Given the description of an element on the screen output the (x, y) to click on. 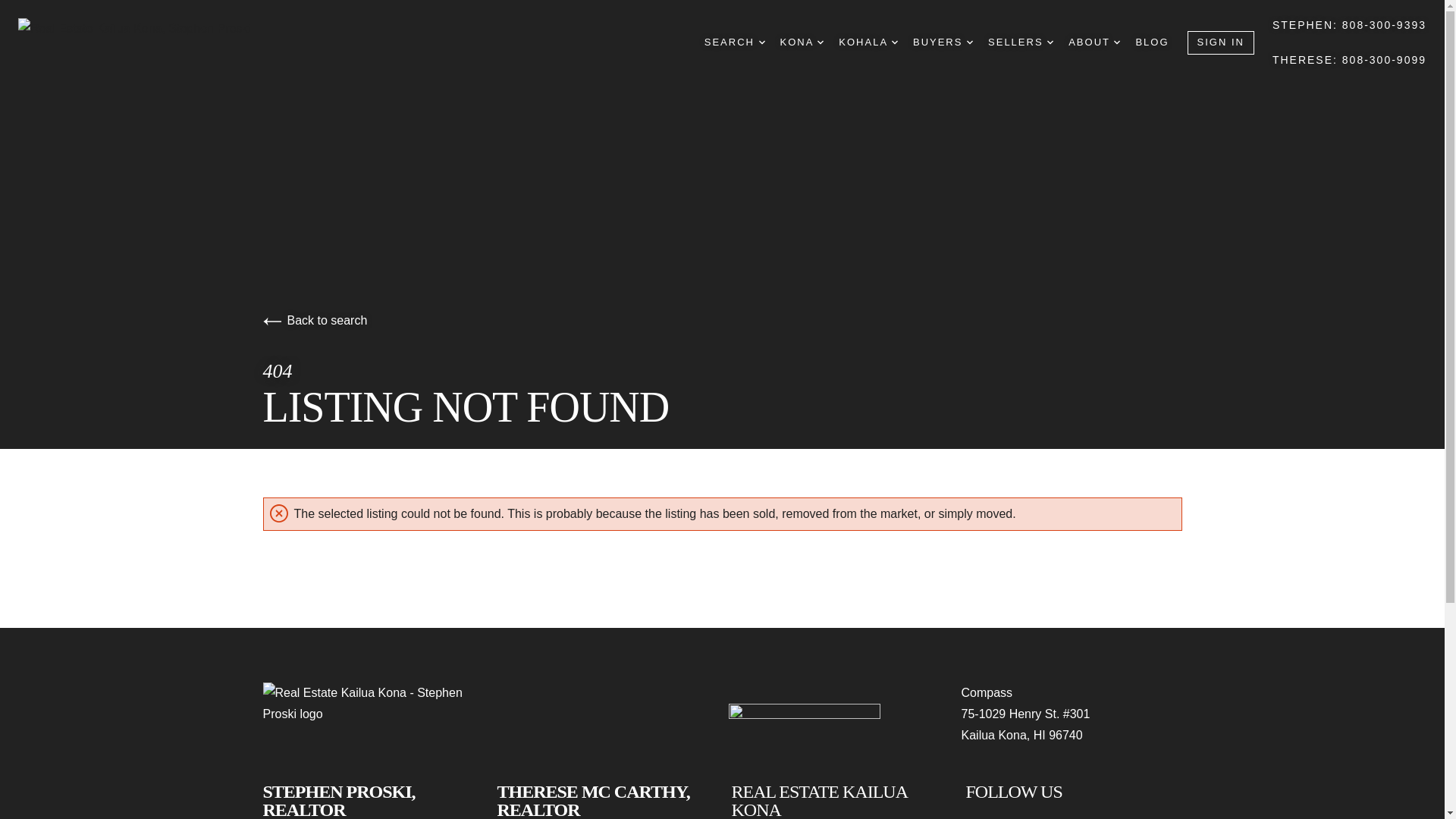
DROPDOWN ARROW (761, 42)
DROPDOWN ARROW (969, 42)
SEARCH DROPDOWN ARROW (734, 42)
DROPDOWN ARROW (1049, 42)
BUYERS DROPDOWN ARROW (942, 42)
DROPDOWN ARROW (1116, 42)
DROPDOWN ARROW (894, 42)
KOHALA DROPDOWN ARROW (868, 42)
DROPDOWN ARROW (820, 42)
KONA DROPDOWN ARROW (802, 42)
